Given the description of an element on the screen output the (x, y) to click on. 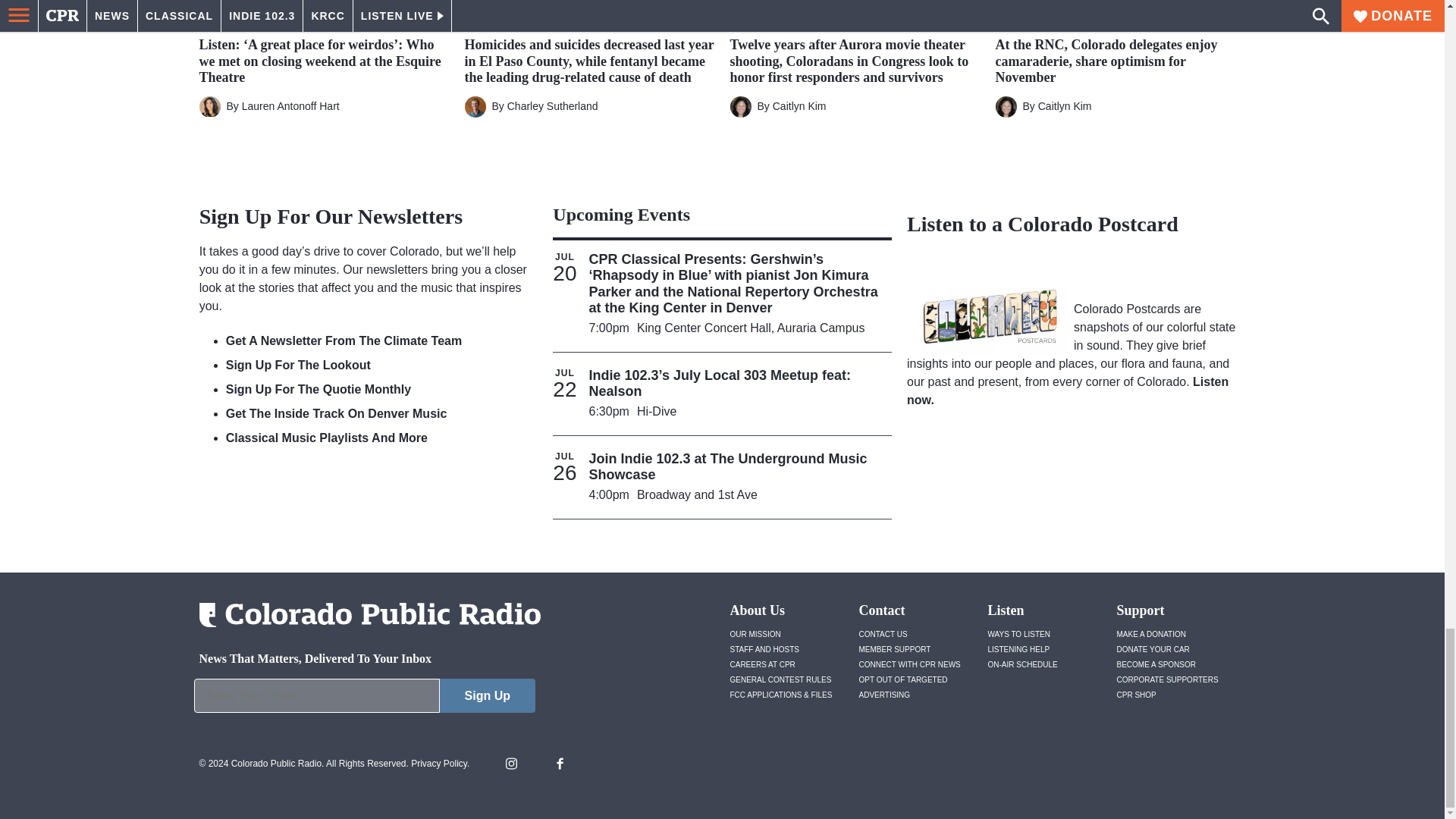
footer (364, 699)
